Given the description of an element on the screen output the (x, y) to click on. 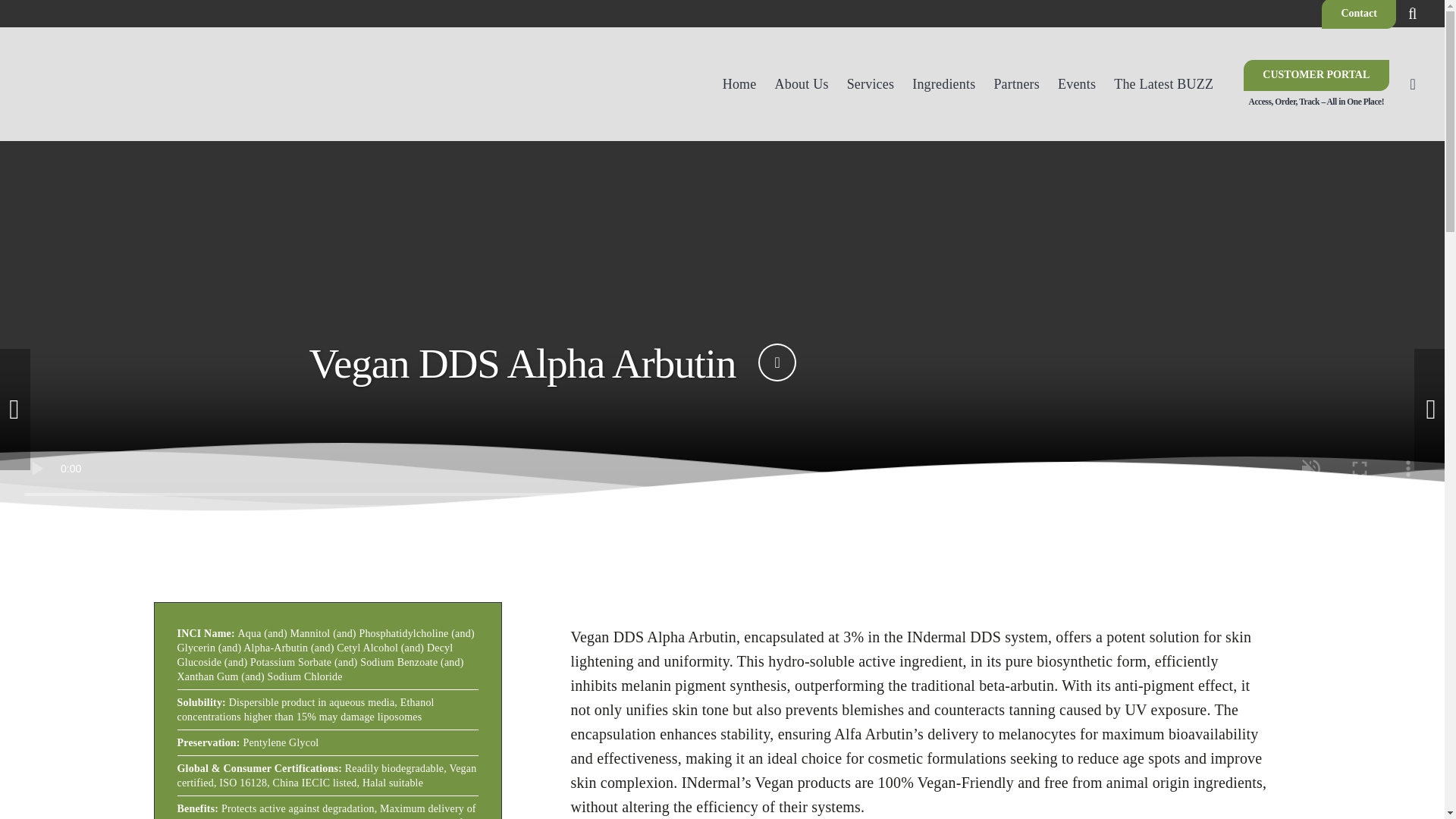
CUSTOMER PORTAL (1316, 74)
Contact (1359, 14)
The Latest BUZZ (1164, 83)
